Given the description of an element on the screen output the (x, y) to click on. 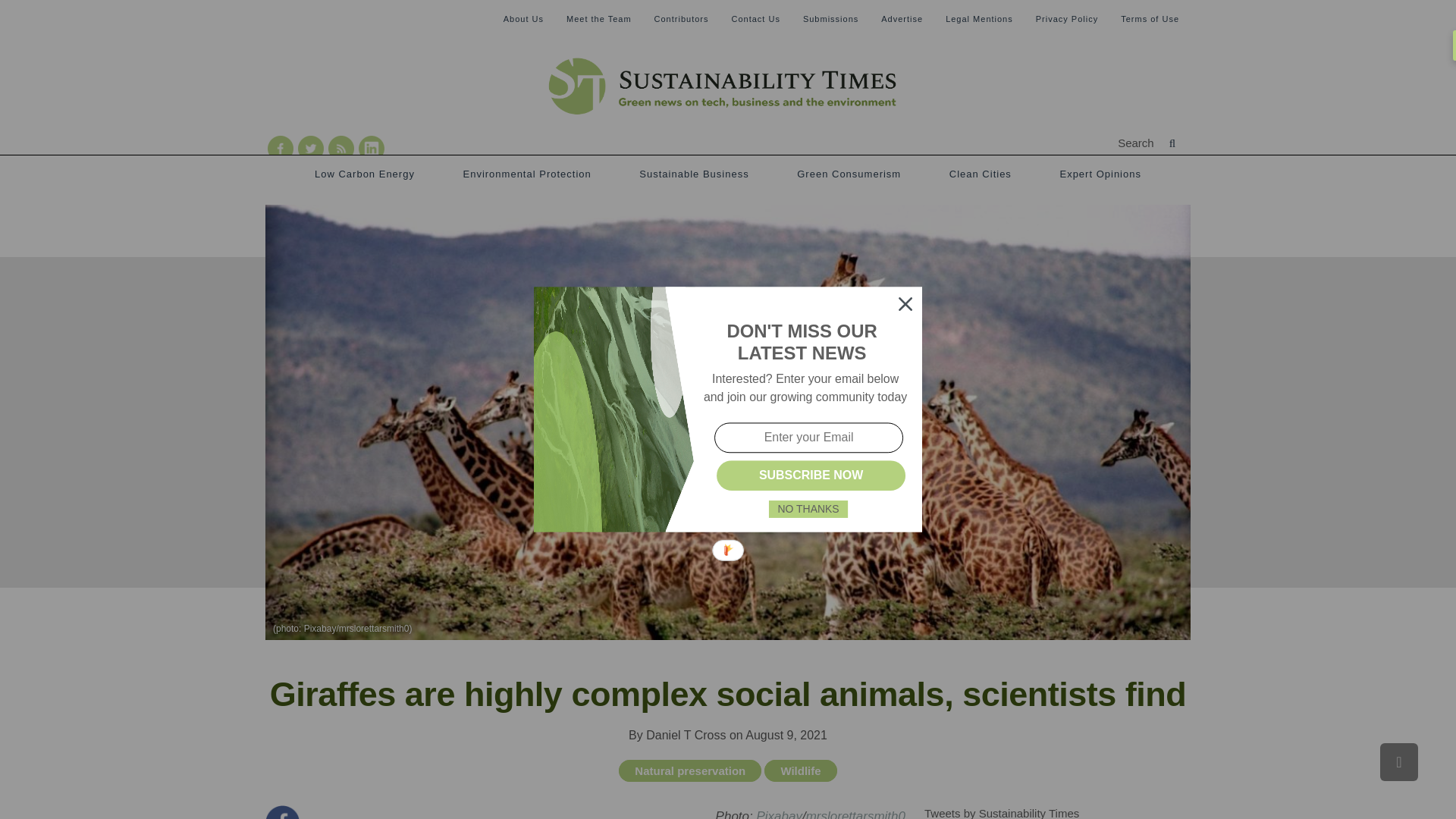
Green Consumerism (848, 173)
RSS (341, 148)
Sustainable Business (693, 173)
Scroll to top (1399, 761)
Legal Mentions (978, 18)
Contact Us (754, 18)
Low Carbon Energy (364, 173)
Twitter (310, 148)
Advertise (901, 18)
RSS (371, 148)
Privacy Policy (1066, 18)
Posts by Daniel T Cross (685, 735)
Contributors (681, 18)
Clean Cities (980, 173)
Submissions (831, 18)
